Given the description of an element on the screen output the (x, y) to click on. 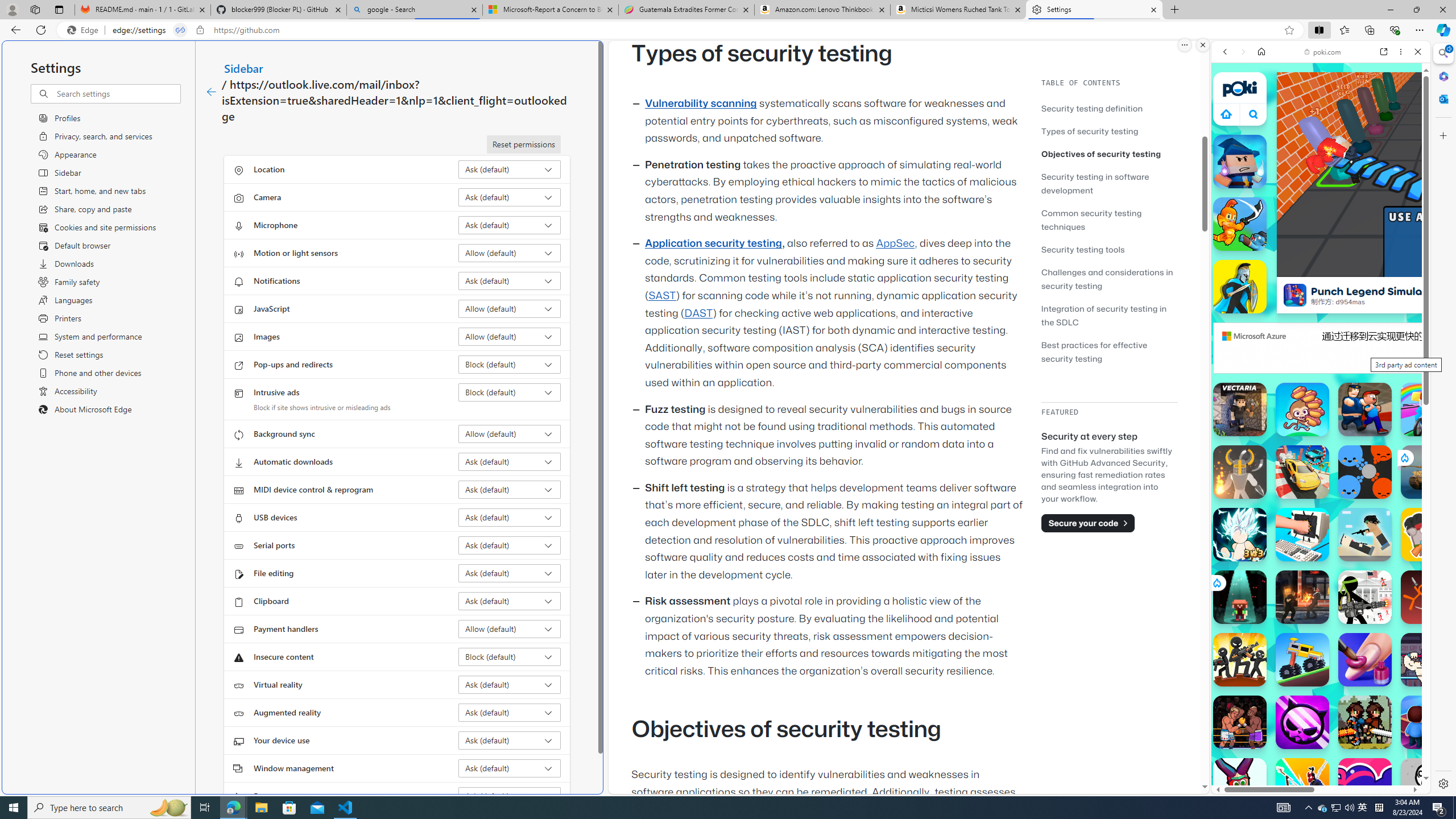
Io Games (1320, 351)
Sidebar (243, 67)
Augmented reality Ask (default) (509, 712)
poki.com (1322, 51)
Challenges and considerations in security testing (1107, 278)
Combat Reloaded (1348, 574)
Integration of security testing in the SDLC (1109, 315)
Hills of Steel Hills of Steel poki.com (1264, 548)
